Given the description of an element on the screen output the (x, y) to click on. 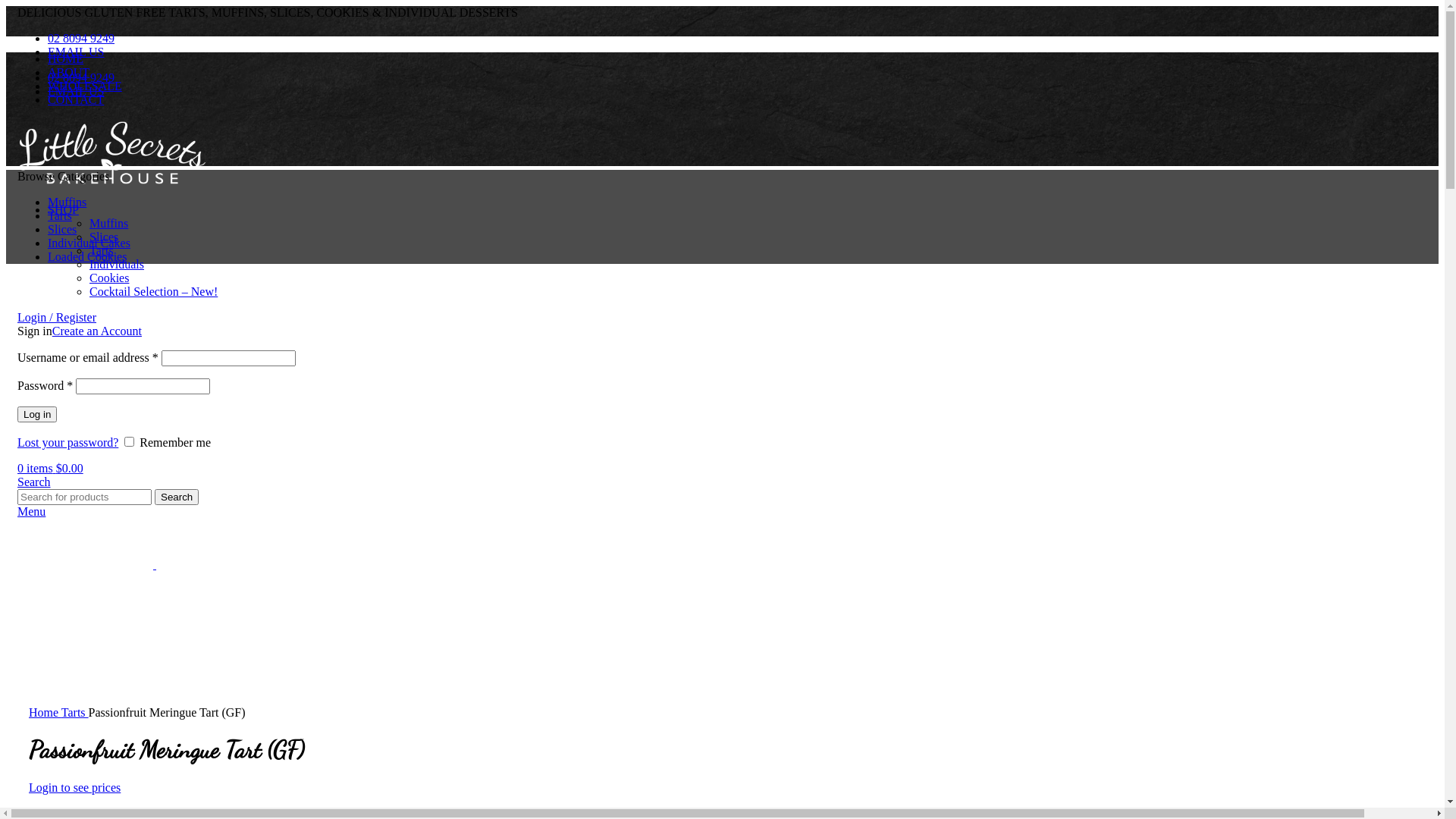
Cookies Element type: text (108, 277)
Individuals Element type: text (116, 263)
EMAIL US Element type: text (75, 90)
Remember me Element type: hover (129, 441)
Login / Register Element type: text (56, 316)
Search Element type: text (176, 497)
Muffins Element type: text (108, 222)
Search Element type: text (33, 481)
Slices Element type: text (61, 228)
EMAIL US Element type: text (75, 51)
Tarts Element type: text (74, 712)
Home Element type: text (44, 712)
Muffins Element type: text (66, 201)
Lost your password? Element type: text (67, 442)
HOME Element type: text (65, 58)
Search for products Element type: hover (84, 497)
ABOUT Element type: text (68, 71)
Menu Element type: text (31, 511)
Log in Element type: text (36, 414)
Create an Account Element type: text (96, 330)
Individual Cakes Element type: text (88, 242)
Tarts Element type: text (101, 250)
02 8094 9249 Element type: text (80, 77)
WHOLESALE Element type: text (84, 85)
Loaded Cookies Element type: text (86, 256)
Tarts Element type: text (59, 215)
02 8094 9249 Element type: text (80, 37)
Slices Element type: text (103, 236)
SHOP Element type: text (62, 209)
CONTACT Element type: text (75, 99)
Login to see prices Element type: text (74, 787)
0 items $0.00 Element type: text (50, 467)
